Given the description of an element on the screen output the (x, y) to click on. 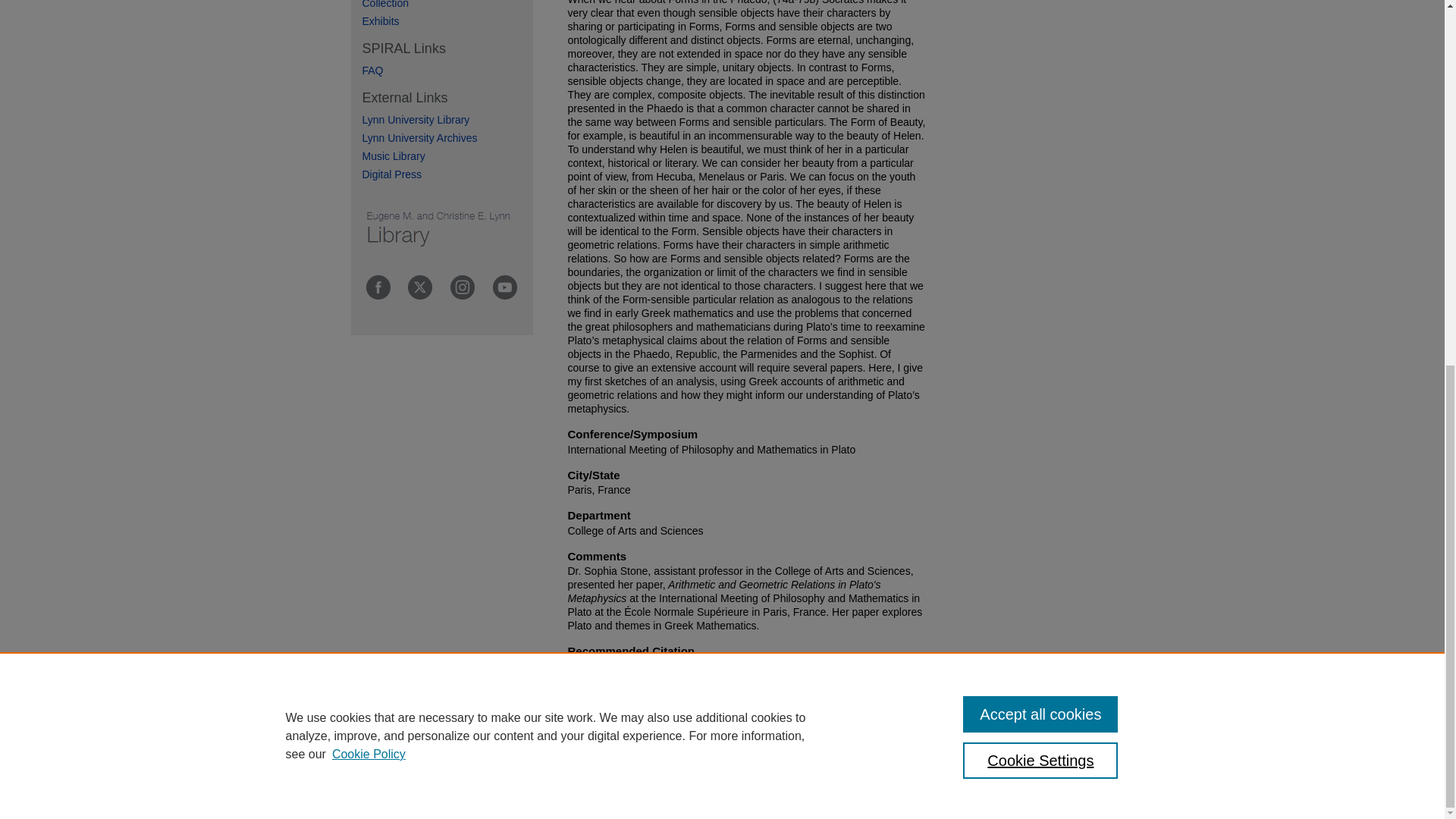
Exhibits (447, 21)
Holocaust and Genocide Studies Collection (447, 4)
